Given the description of an element on the screen output the (x, y) to click on. 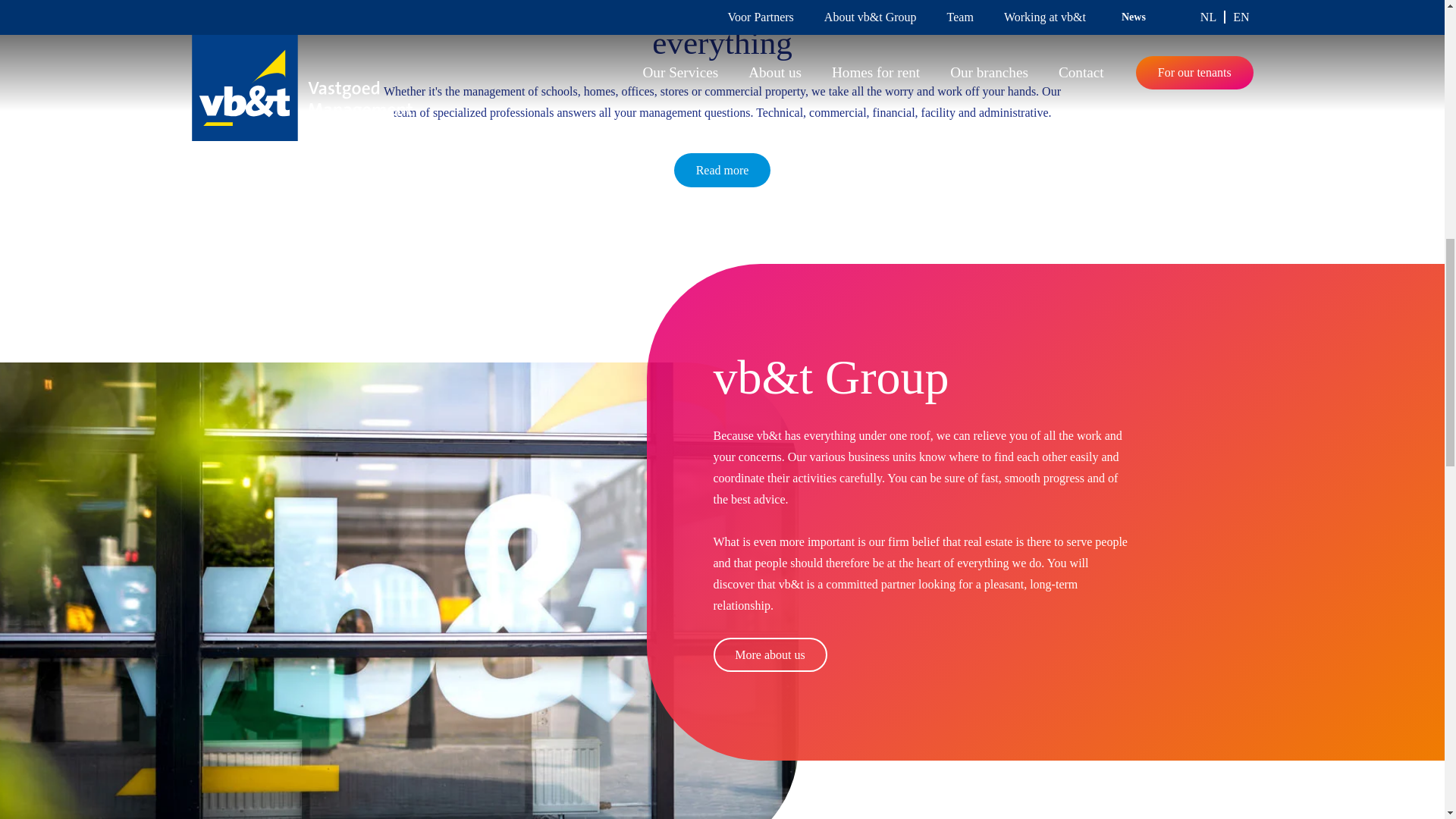
Read more (722, 170)
More about us (770, 654)
